Given the description of an element on the screen output the (x, y) to click on. 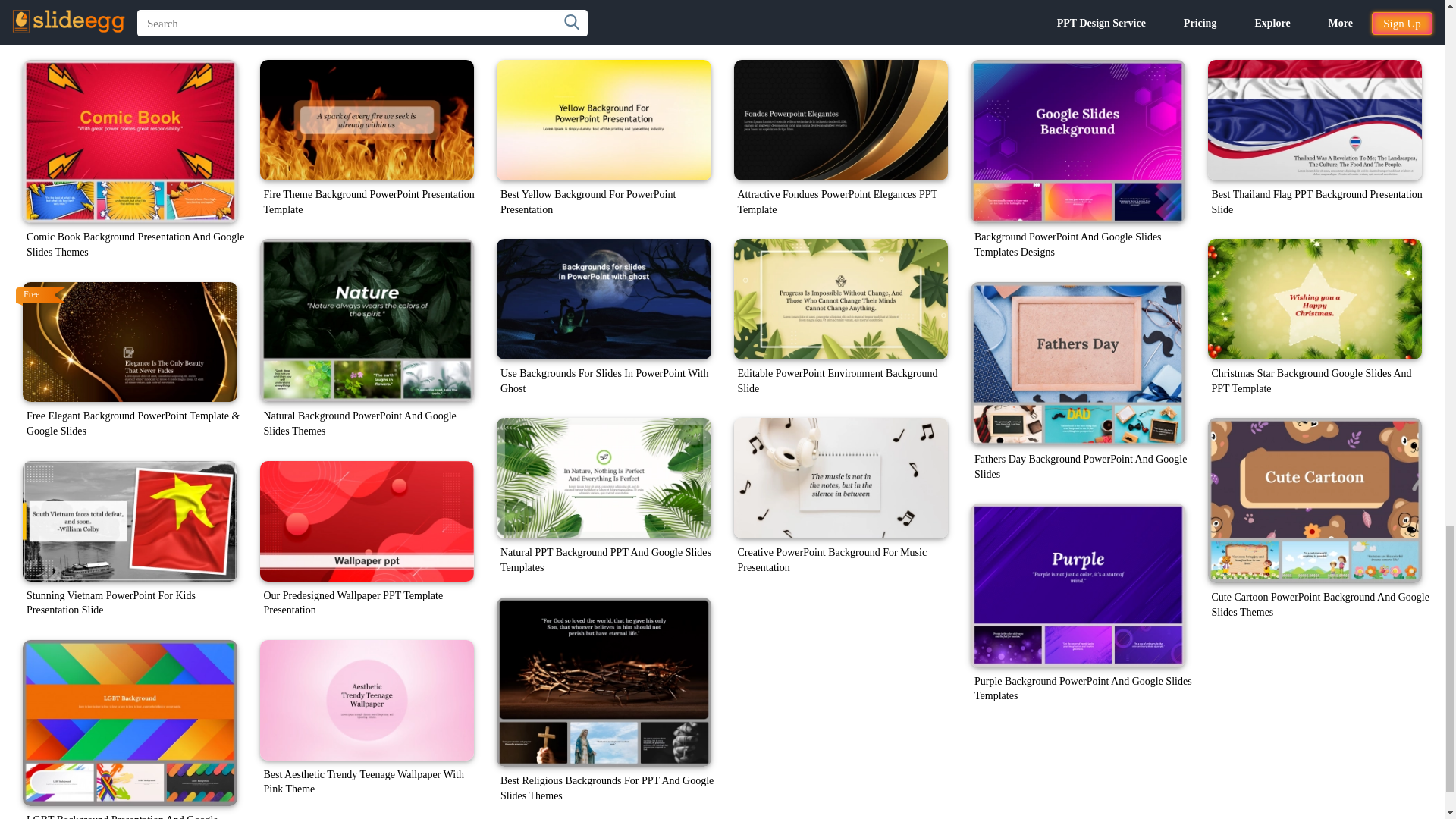
Background PowerPoint And Google Slides Templates Designs (1078, 140)
Natural Background PowerPoint And Google Slides Themes (366, 320)
Stunning Vietnam PowerPoint For Kids Presentation Slide (130, 521)
Best Aesthetic Trendy Teenage Wallpaper With Pink Theme (366, 699)
 Comic Book Background Presentation and Google Slides Themes (130, 140)
Editable PowerPoint Environment Background Slide  (841, 299)
LGBT Background Presentation and Google Slides Themes (130, 722)
Best Religious Backgrounds For PPT and Google Slides Themes (603, 681)
Purple Background PowerPoint and Google Slides Templates (1078, 584)
Use backgrounds for slides in PowerPoint with ghost (603, 299)
Best Yellow Background For PowerPoint Presentation (603, 119)
Our Predesigned Wallpaper PPT Template Presentation  (366, 521)
Natural PPT Background PPT And Google Slides Templates (603, 477)
Attractive Fondues PowerPoint Elegances PPT Template (841, 119)
Fathers Day Background PowerPoint And Google Slides (1078, 363)
